Given the description of an element on the screen output the (x, y) to click on. 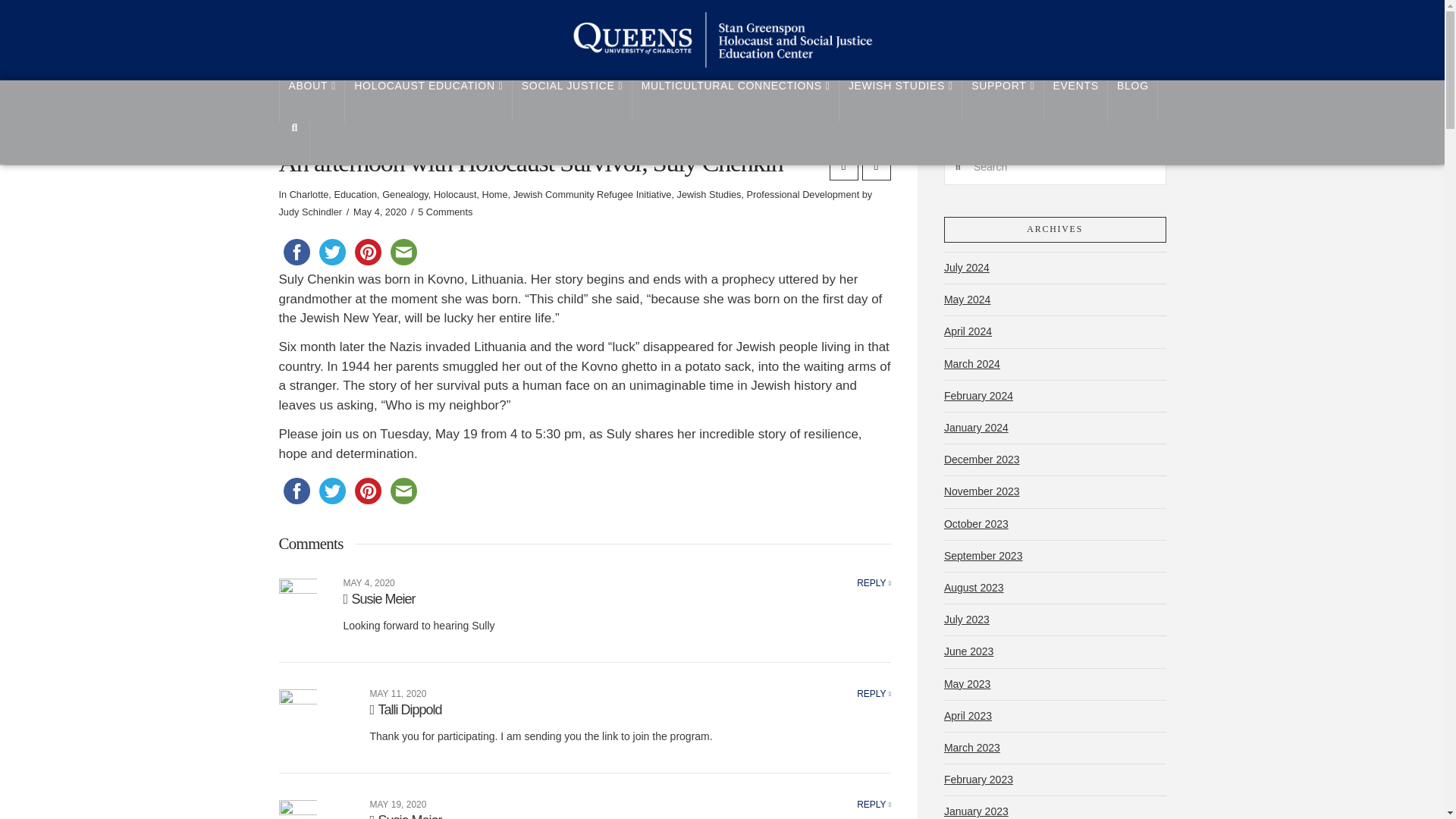
JEWISH STUDIES (901, 101)
HOLOCAUST EDUCATION (428, 101)
facebook (296, 252)
ABOUT (312, 101)
twitter (331, 252)
MULTICULTURAL CONNECTIONS (735, 101)
SOCIAL JUSTICE (571, 101)
